Given the description of an element on the screen output the (x, y) to click on. 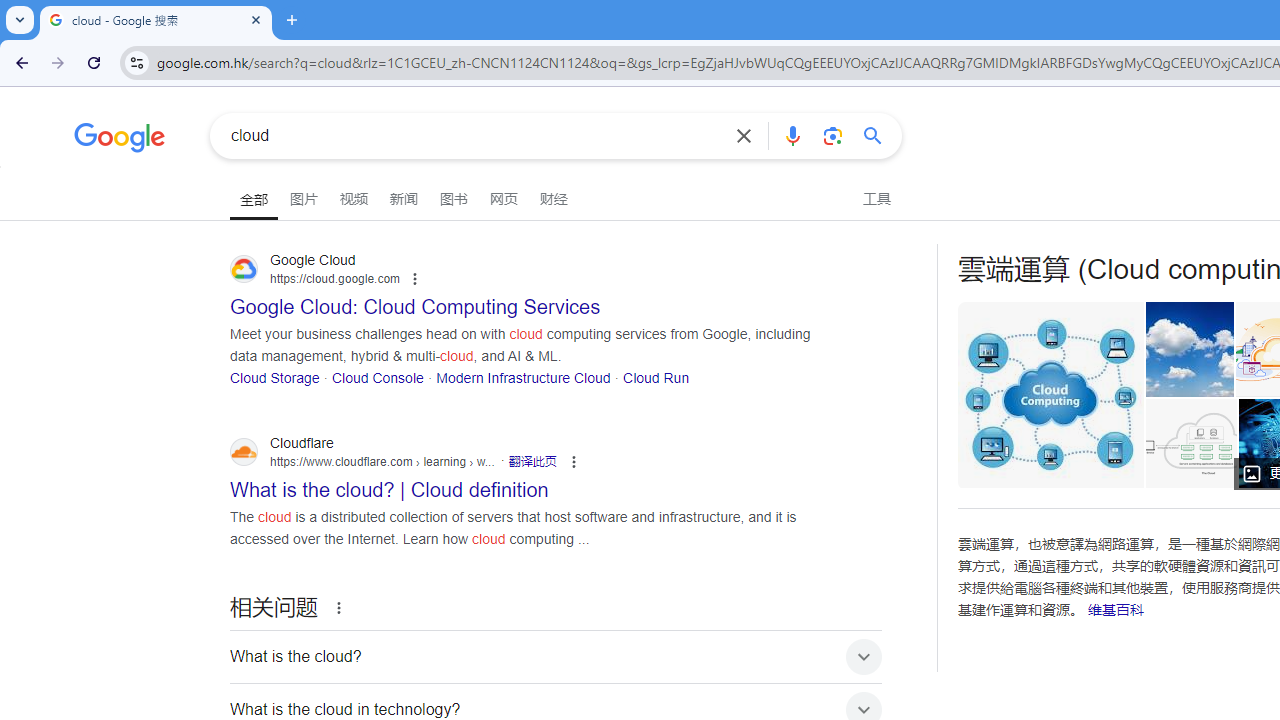
What is the cloud? | Cloud definition | Cloudflare (1196, 443)
Cloud Run (656, 376)
Cloud Console (377, 376)
